Given the description of an element on the screen output the (x, y) to click on. 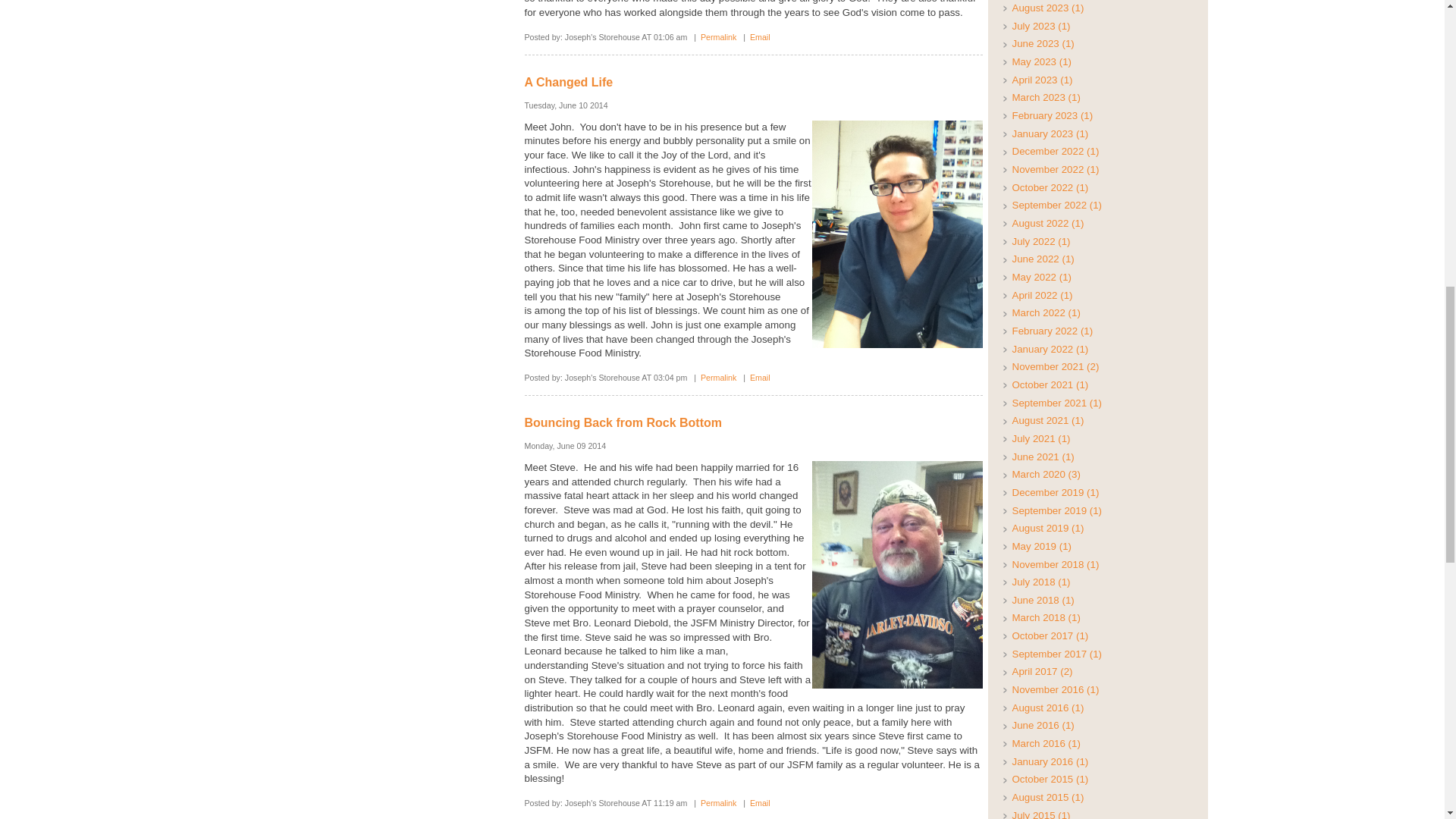
Permalink (718, 377)
Email (759, 802)
A Changed Life (568, 82)
Permalink (718, 802)
Bouncing Back from Rock Bottom (623, 422)
Permalink (718, 36)
Email (759, 36)
Email (759, 377)
